Given the description of an element on the screen output the (x, y) to click on. 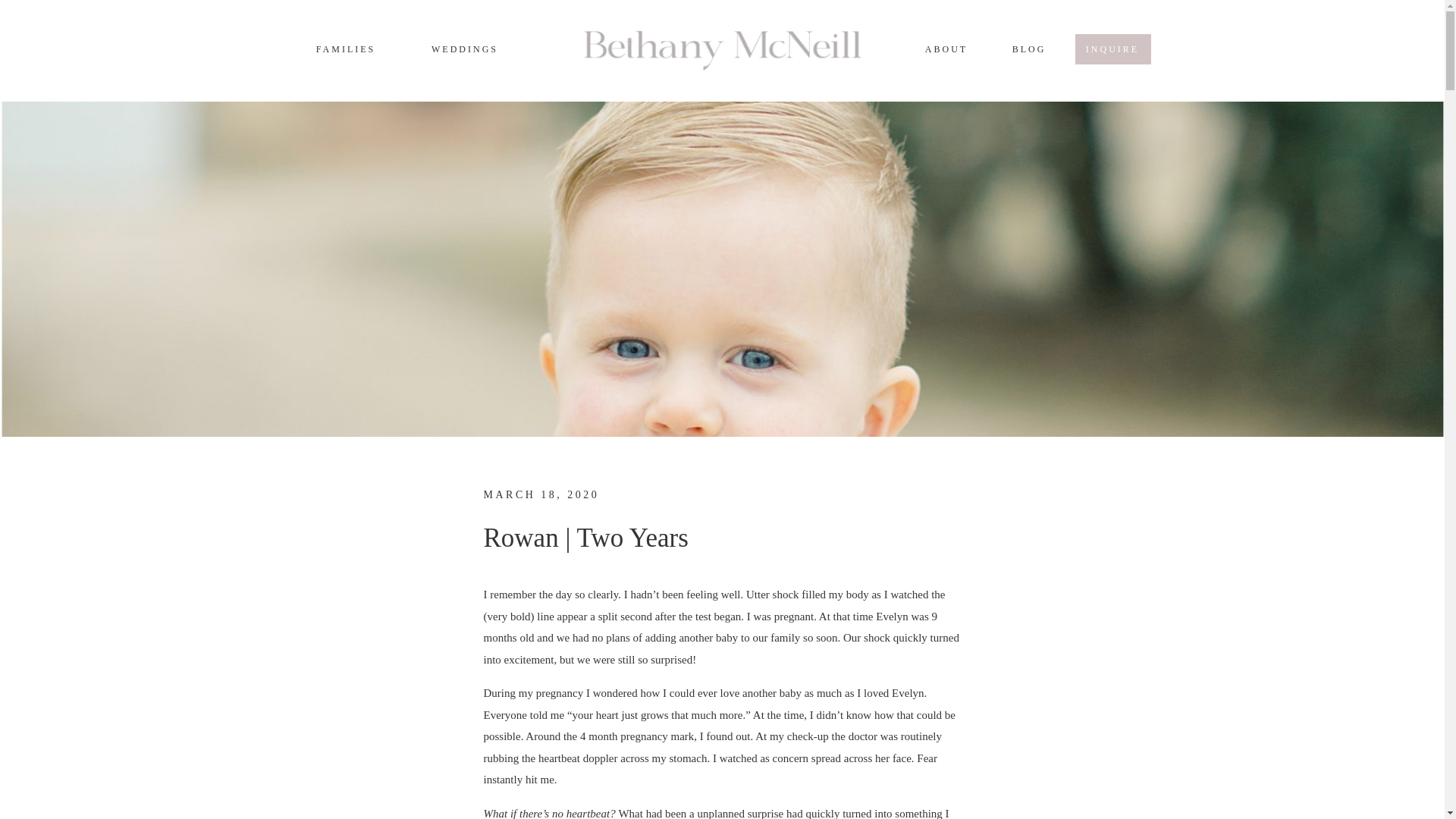
FAMILIES (345, 50)
BLOG (1029, 50)
ABOUT (945, 50)
INQUIRE (1111, 50)
WEDDINGS (464, 50)
